Given the description of an element on the screen output the (x, y) to click on. 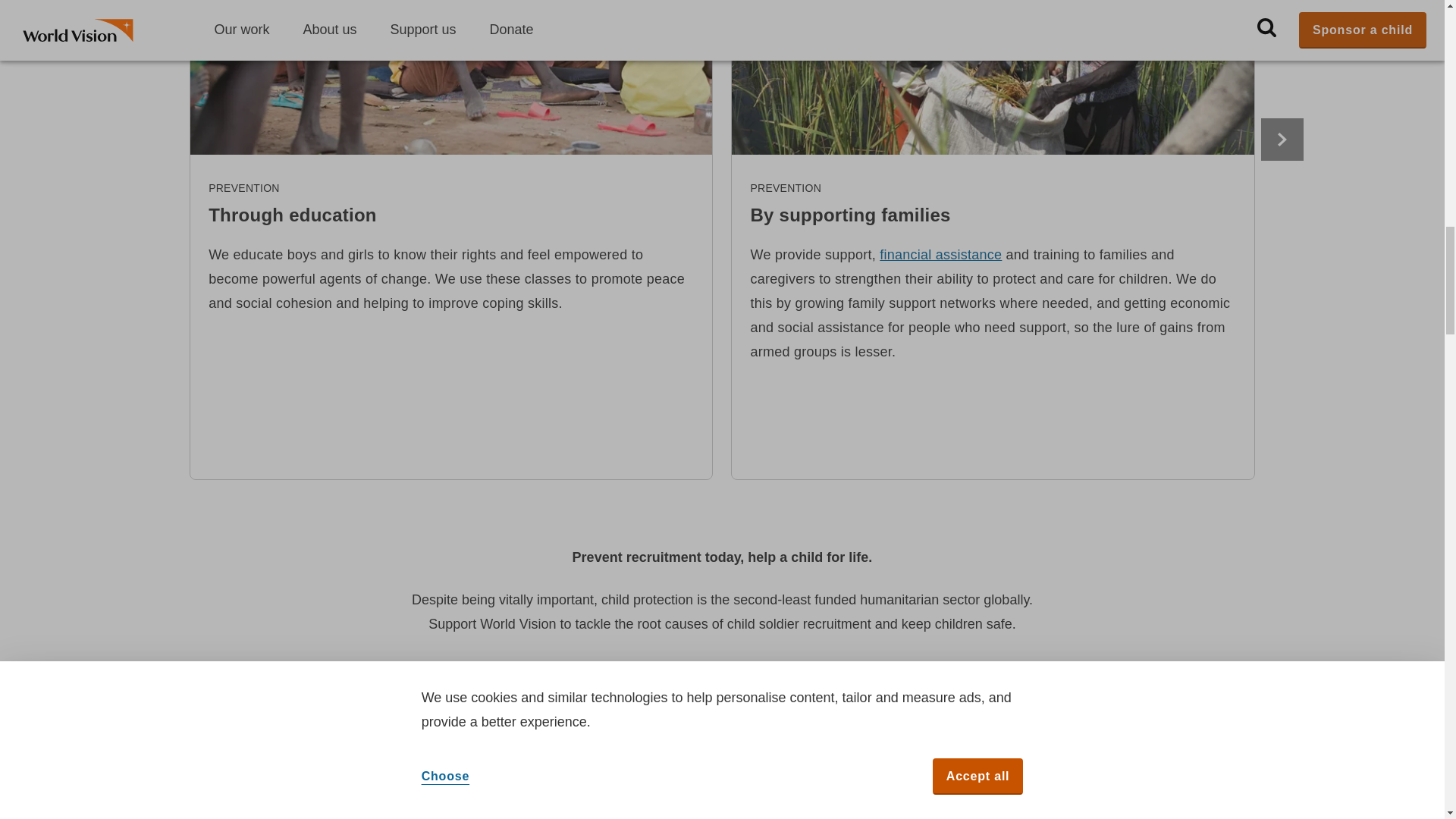
Family Incomes (940, 254)
